Given the description of an element on the screen output the (x, y) to click on. 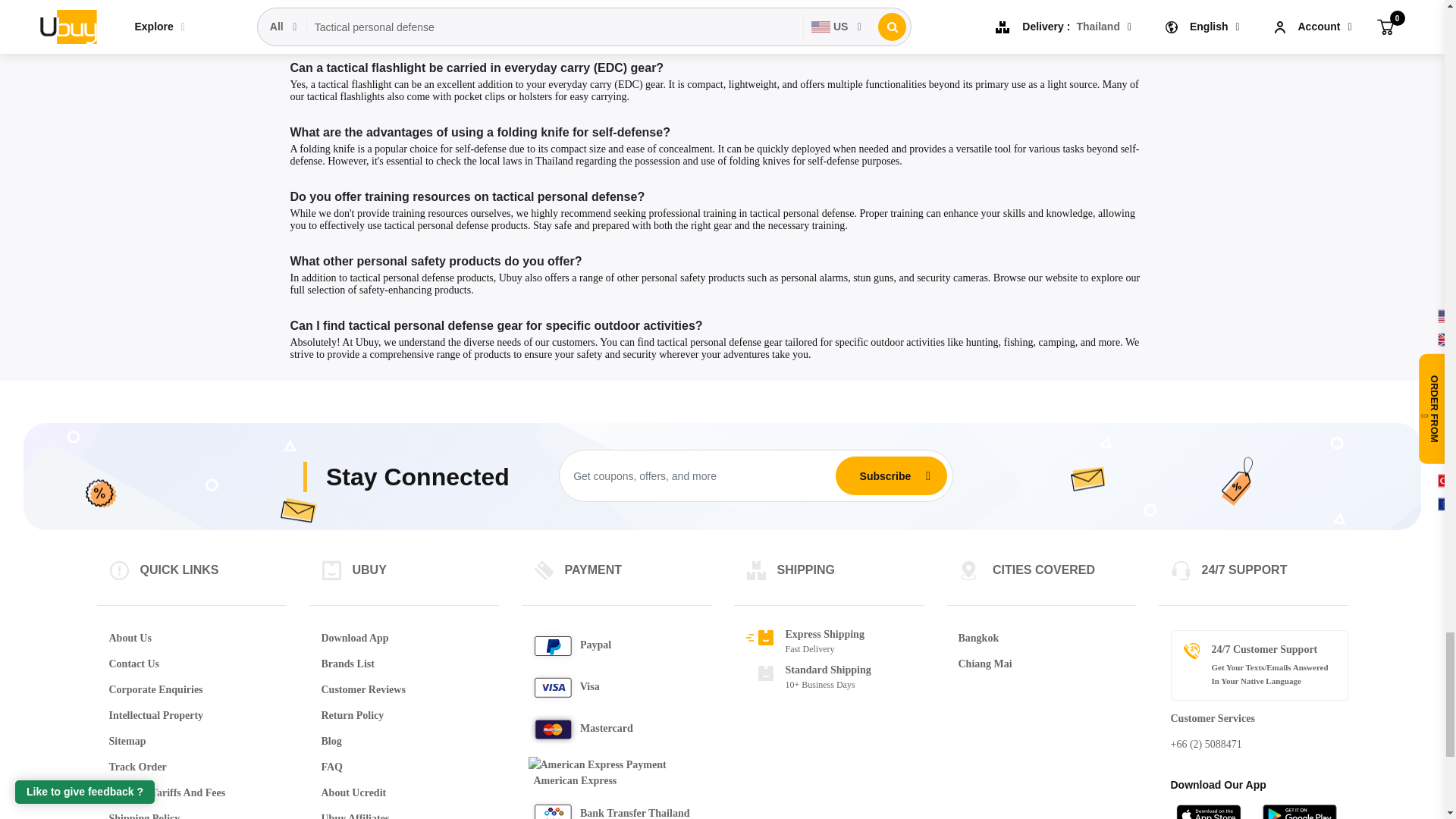
Subscribe (885, 476)
